Given the description of an element on the screen output the (x, y) to click on. 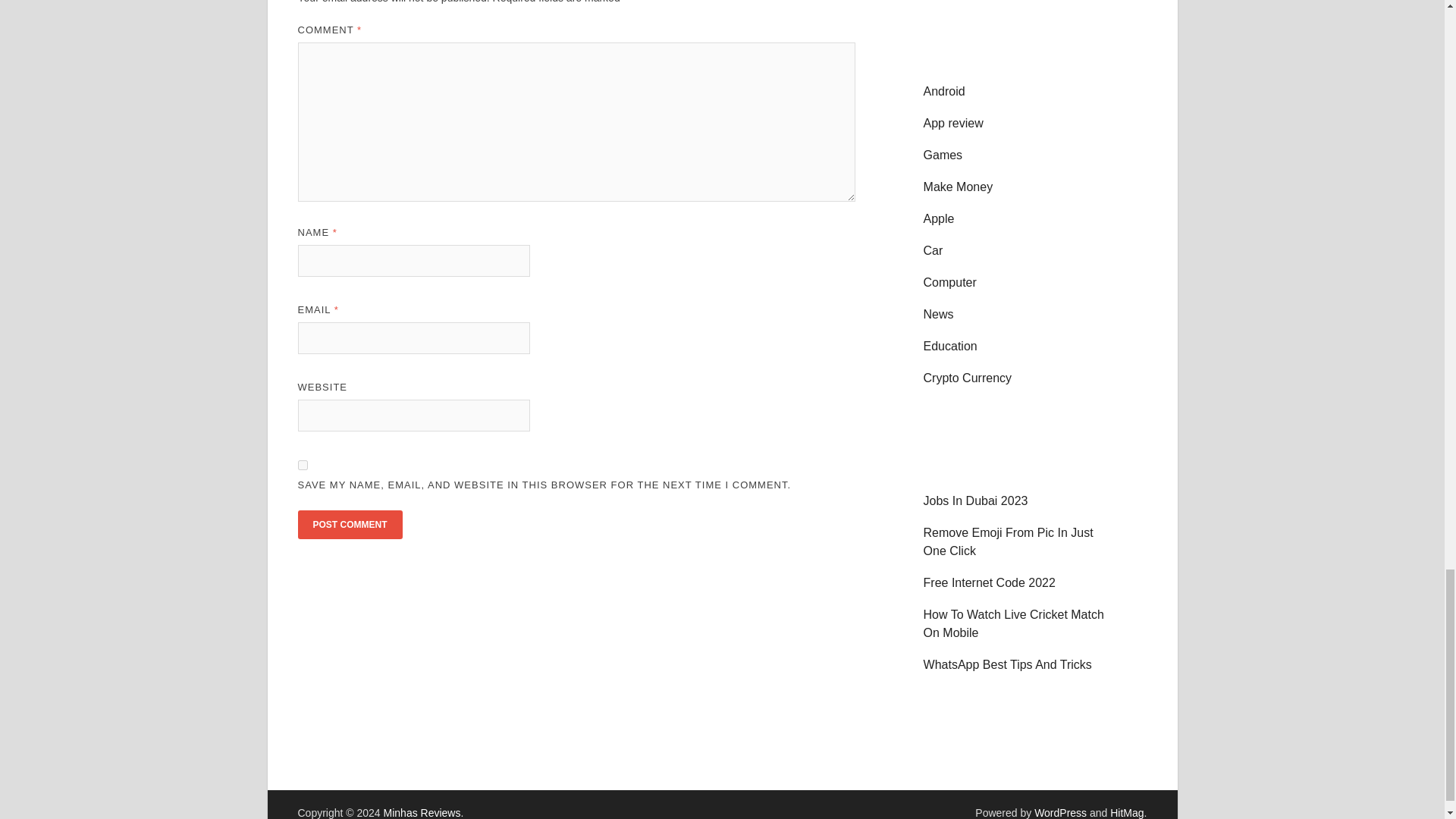
Post Comment (349, 524)
Post Comment (349, 524)
yes (302, 465)
